Given the description of an element on the screen output the (x, y) to click on. 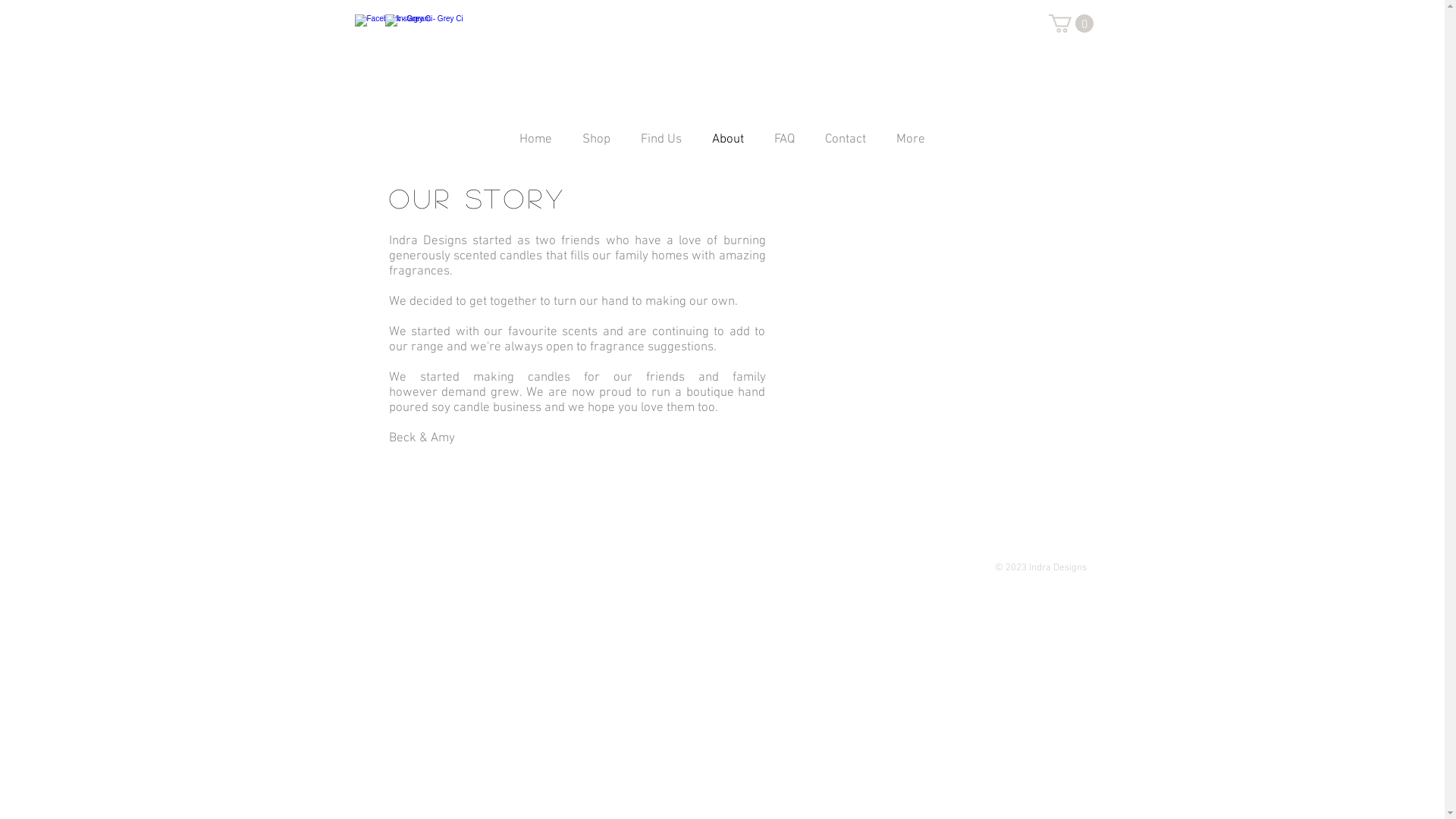
Contact Element type: text (845, 143)
Indra-Logo-Design-03.png 2015-10-29-21:51:54 Element type: hover (722, 64)
About Element type: text (727, 143)
Home Element type: text (535, 143)
Find Us Element type: text (660, 143)
0 Element type: text (1070, 23)
FAQ Element type: text (784, 143)
Shop Element type: text (596, 143)
